Given the description of an element on the screen output the (x, y) to click on. 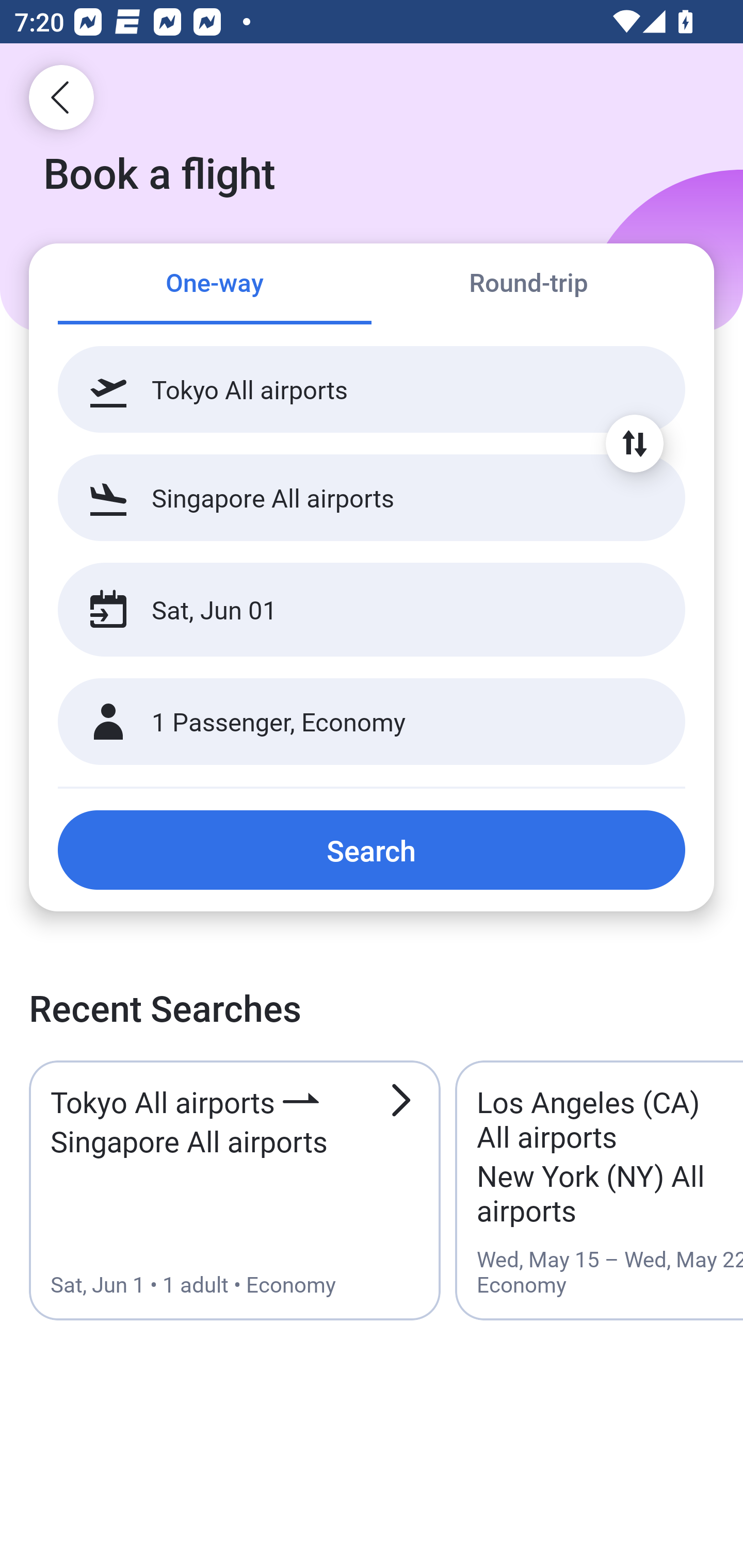
Round-trip (528, 284)
Tokyo All airports (371, 389)
Singapore All airports (371, 497)
Sat, Jun 01 (349, 609)
1 Passenger, Economy (371, 721)
Search (371, 849)
